Given the description of an element on the screen output the (x, y) to click on. 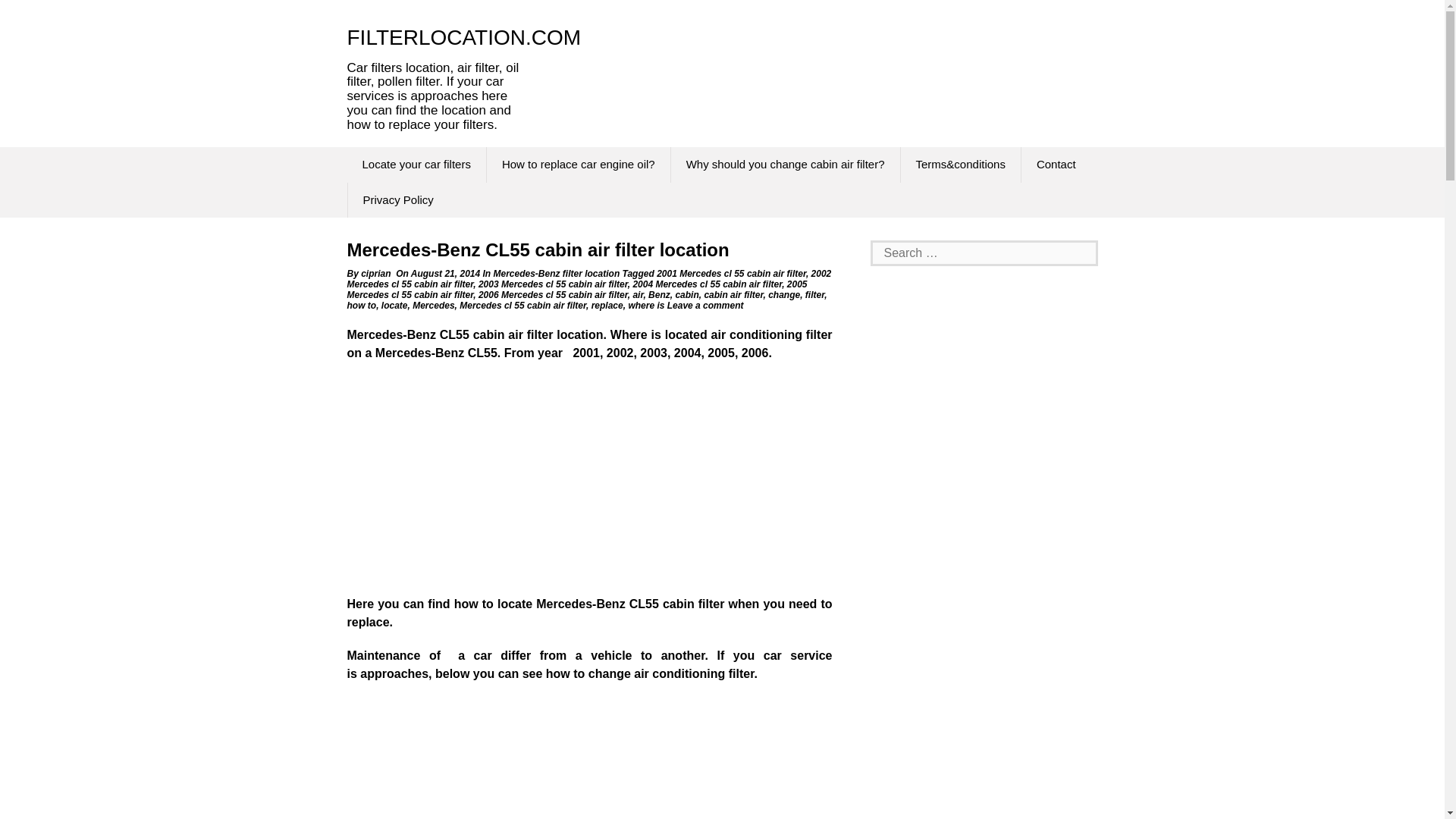
Contact (1056, 164)
how to (362, 305)
How to replace car engine oil? (577, 164)
2005 Mercedes cl 55 cabin air filter (577, 289)
2006 Mercedes cl 55 cabin air filter (553, 294)
replace (607, 305)
ciprian (375, 273)
2002 Mercedes cl 55 cabin air filter (589, 278)
Leave a comment  (705, 305)
Locate your car filters (416, 164)
Advertisement (590, 483)
Privacy Policy (397, 200)
Advertisement (590, 758)
2004 Mercedes cl 55 cabin air filter (706, 284)
Advertisement (983, 806)
